Given the description of an element on the screen output the (x, y) to click on. 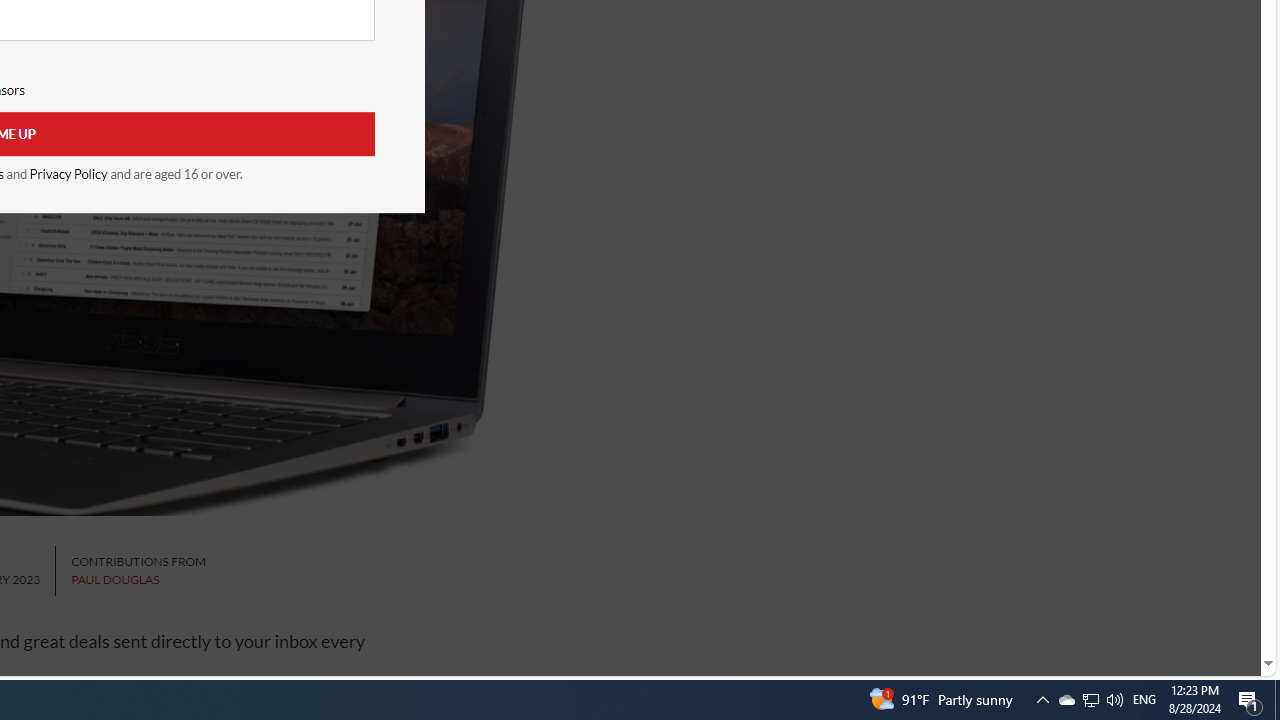
Privacy Policy (68, 174)
PAUL DOUGLAS (115, 579)
